Given the description of an element on the screen output the (x, y) to click on. 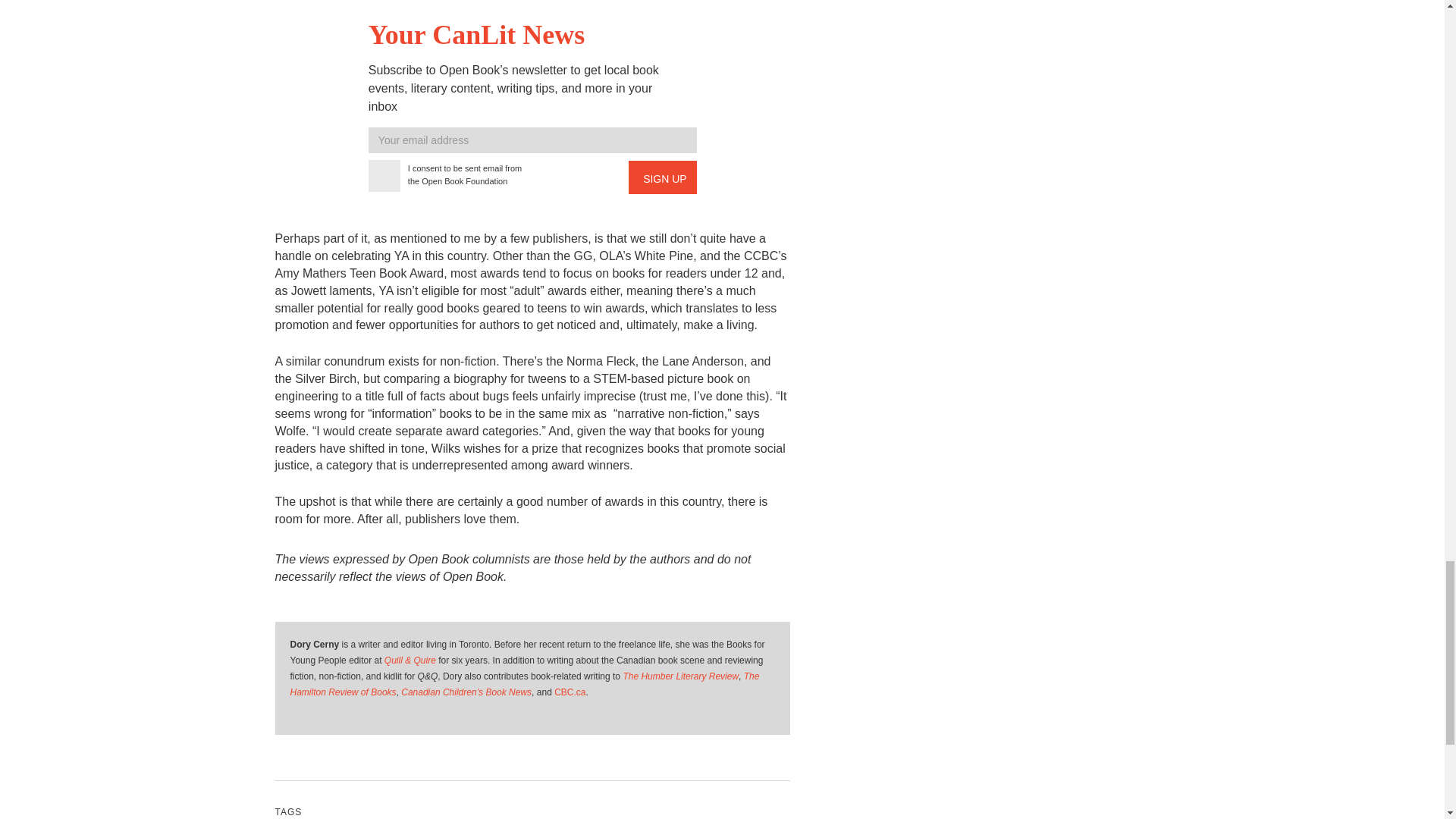
The Hamilton Review of Books (523, 683)
SIGN UP (662, 177)
CBC.ca (569, 692)
The Humber Literary Review (680, 675)
